Given the description of an element on the screen output the (x, y) to click on. 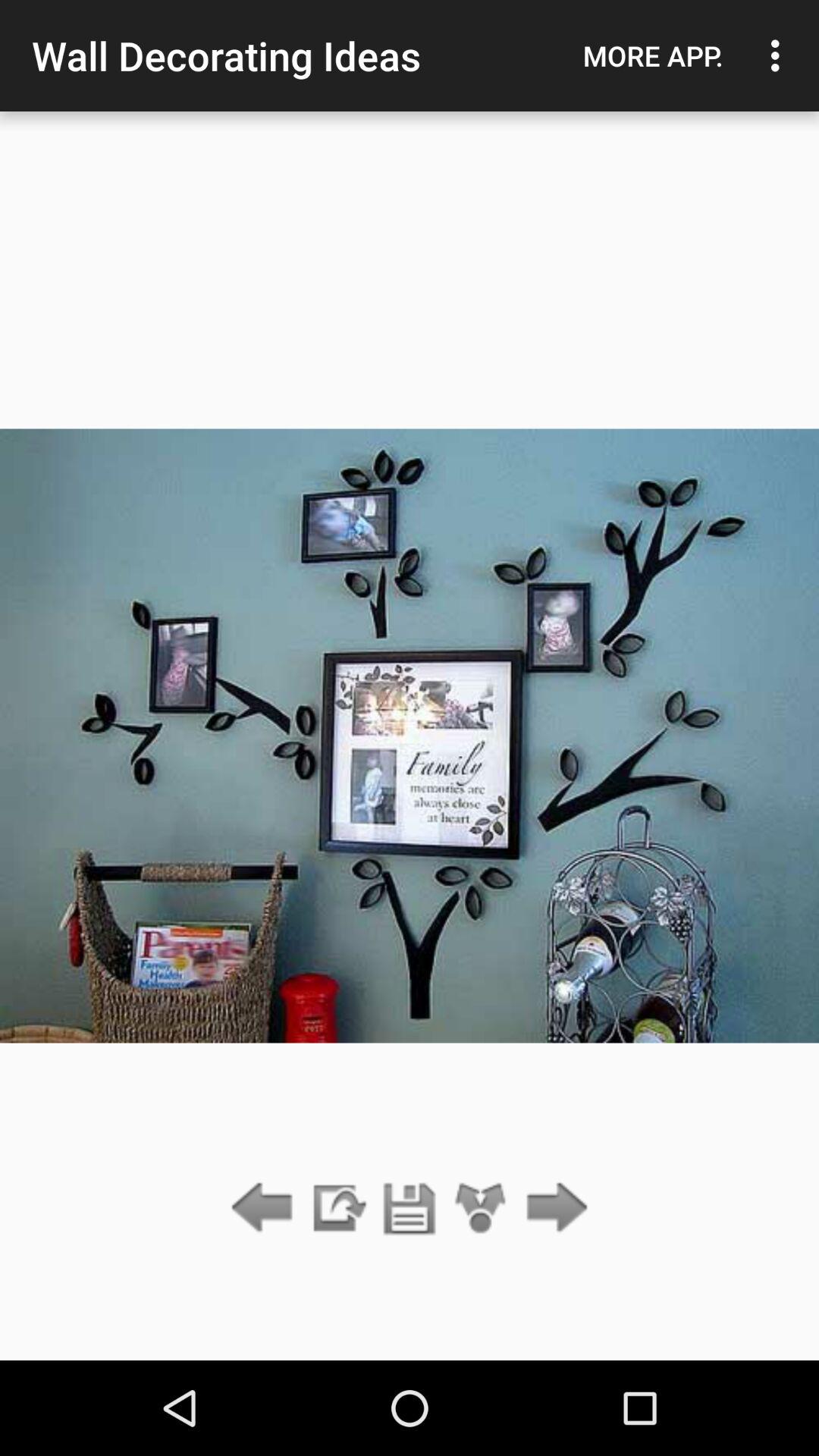
turn off the icon next to more app. icon (779, 55)
